Given the description of an element on the screen output the (x, y) to click on. 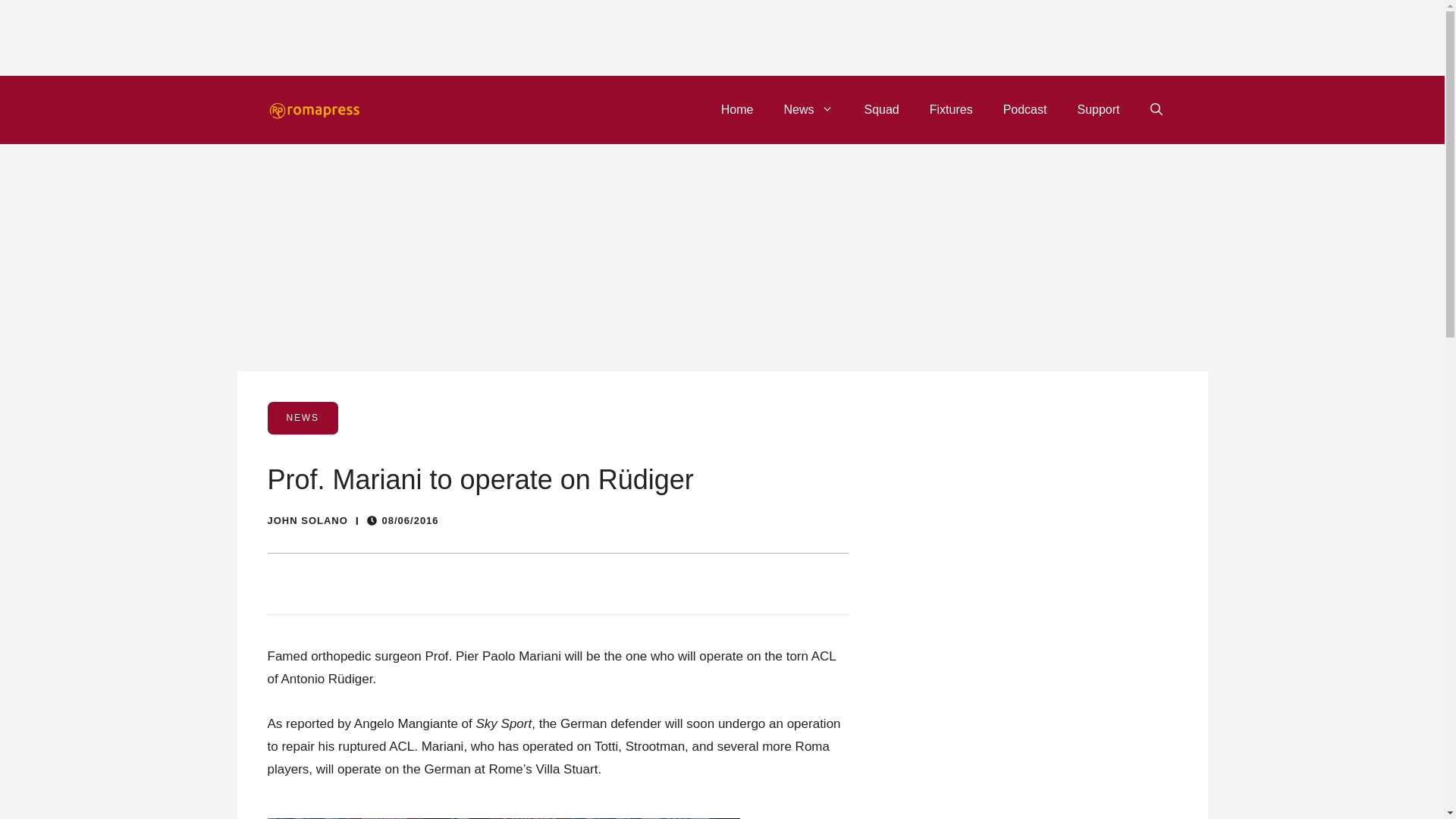
Home (737, 109)
News (808, 109)
Squad (881, 109)
Podcast (1025, 109)
Fixtures (951, 109)
Support (1097, 109)
